Given the description of an element on the screen output the (x, y) to click on. 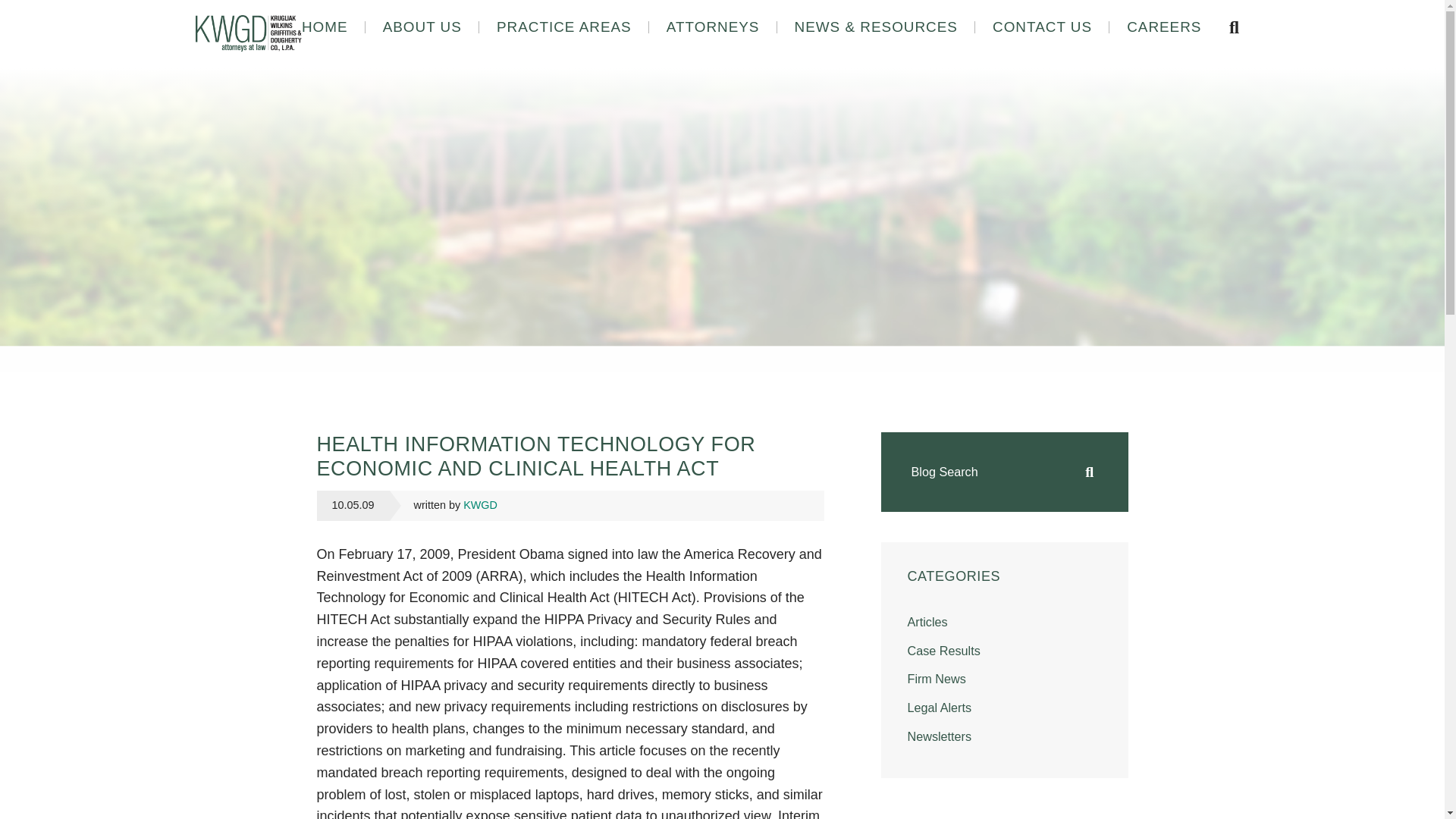
Posts by KWGD (480, 504)
